Given the description of an element on the screen output the (x, y) to click on. 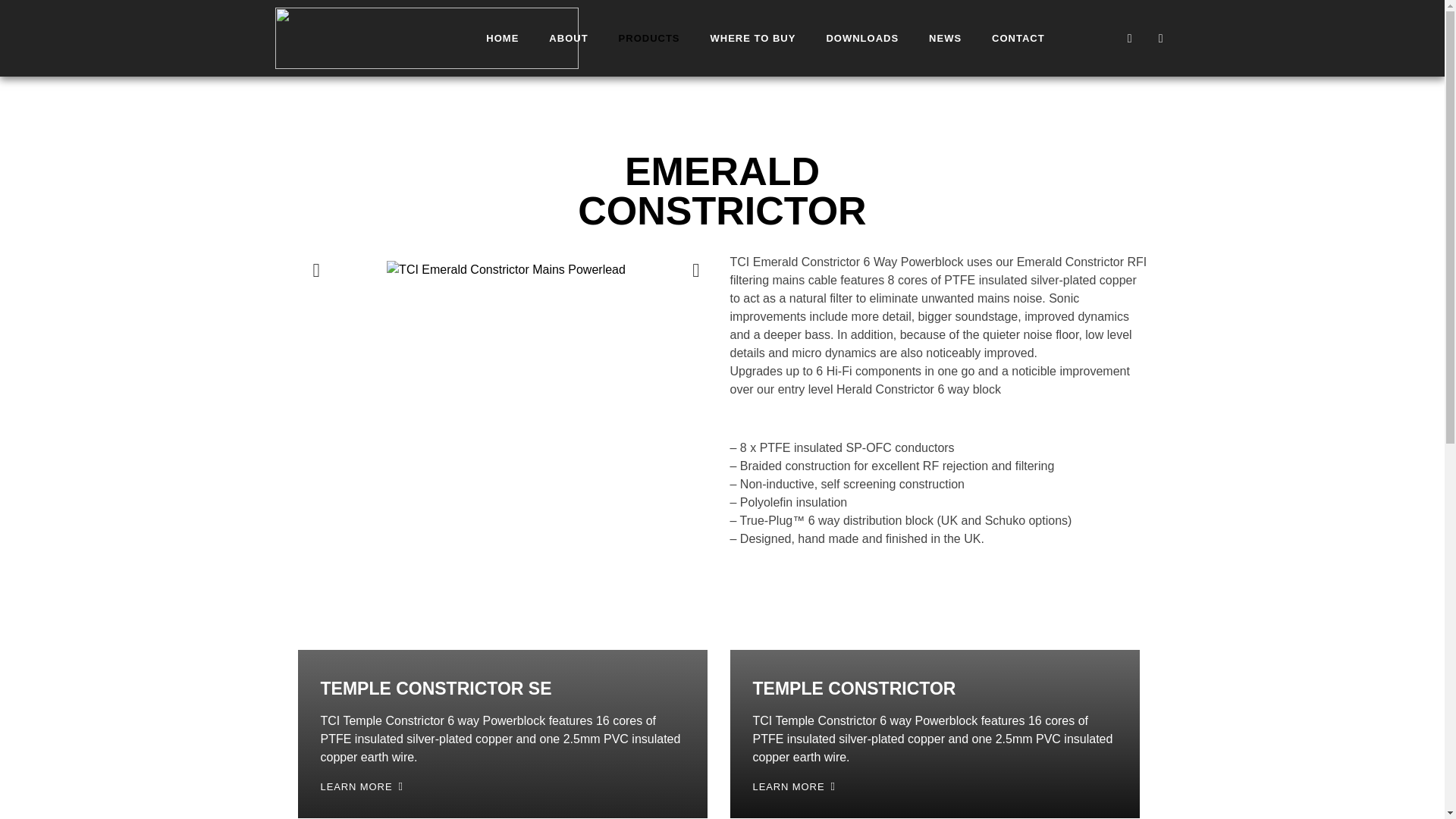
PRODUCTS (649, 38)
ABOUT (568, 38)
HOME (502, 38)
